Given the description of an element on the screen output the (x, y) to click on. 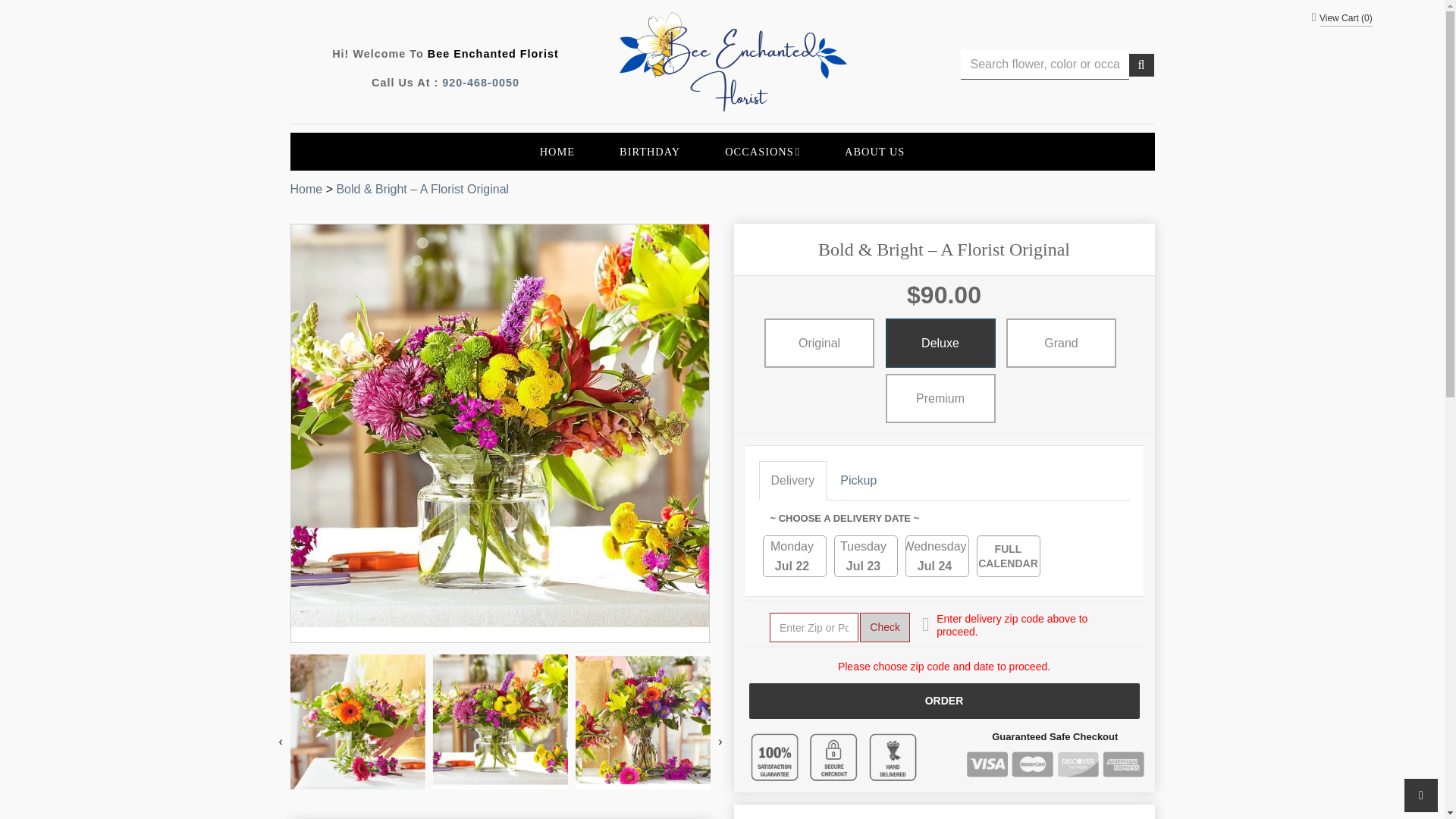
ABOUT US (874, 151)
Home (305, 188)
Delivery (792, 480)
HOME (557, 151)
OCCASIONS (762, 151)
Home (936, 556)
Pickup (305, 188)
920-468-0050 (865, 556)
Check (858, 480)
Bold (480, 82)
BIRTHDAY (885, 627)
